Given the description of an element on the screen output the (x, y) to click on. 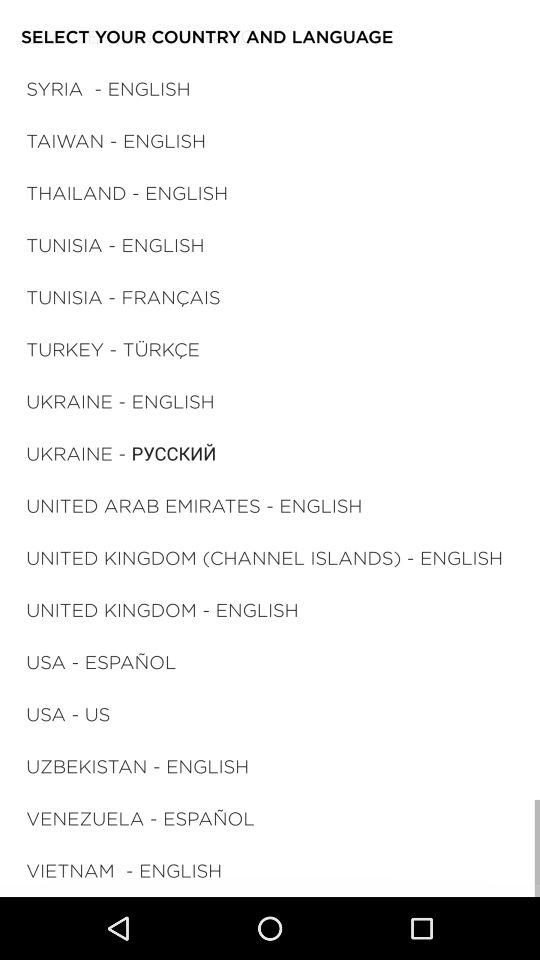
flip until tunisia - english icon (115, 244)
